Given the description of an element on the screen output the (x, y) to click on. 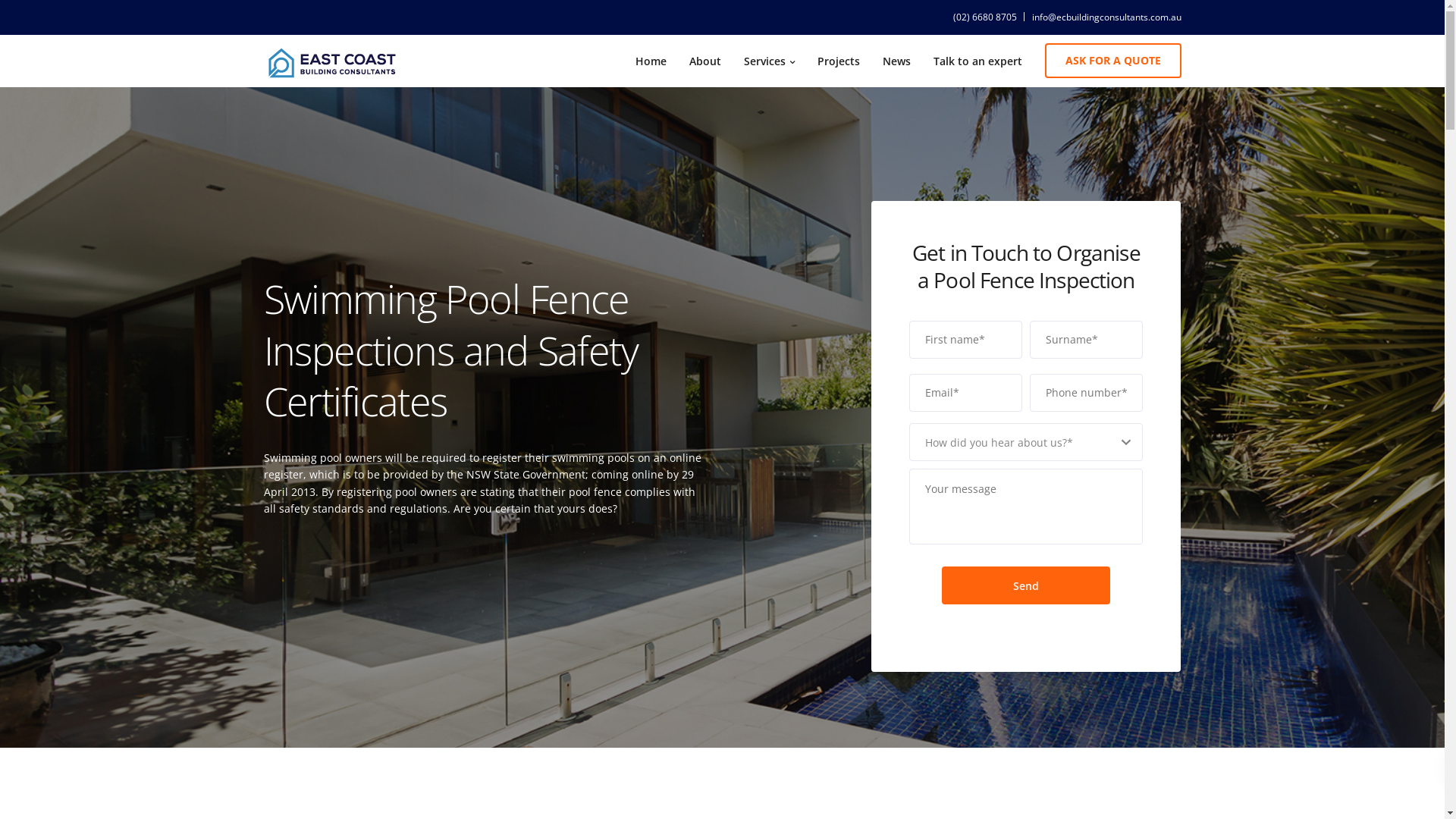
Talk to an expert Element type: text (977, 60)
ASK FOR A QUOTE Element type: text (1112, 60)
Home Element type: text (650, 60)
About Element type: text (704, 60)
Services Element type: text (769, 60)
(02) 6680 8705 Element type: text (987, 16)
Send Element type: text (1025, 585)
info@ecbuildingconsultants.com.au Element type: text (1105, 16)
Projects Element type: text (837, 60)
News Element type: text (895, 60)
